Given the description of an element on the screen output the (x, y) to click on. 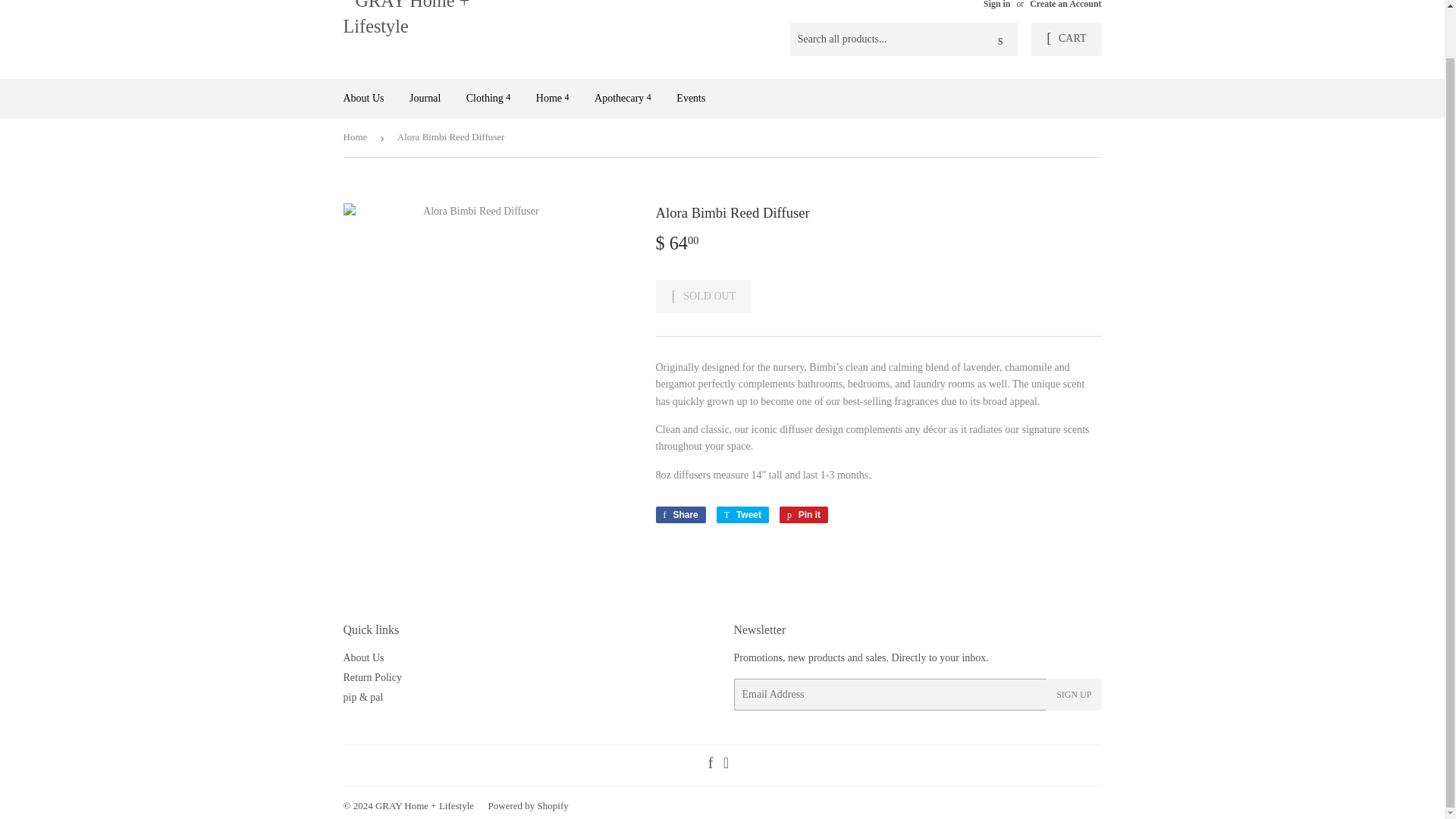
CART (1065, 39)
Pin on Pinterest (803, 514)
Search (1000, 40)
Sign in (997, 4)
Tweet on Twitter (742, 514)
Create an Account (1064, 4)
Share on Facebook (679, 514)
